Given the description of an element on the screen output the (x, y) to click on. 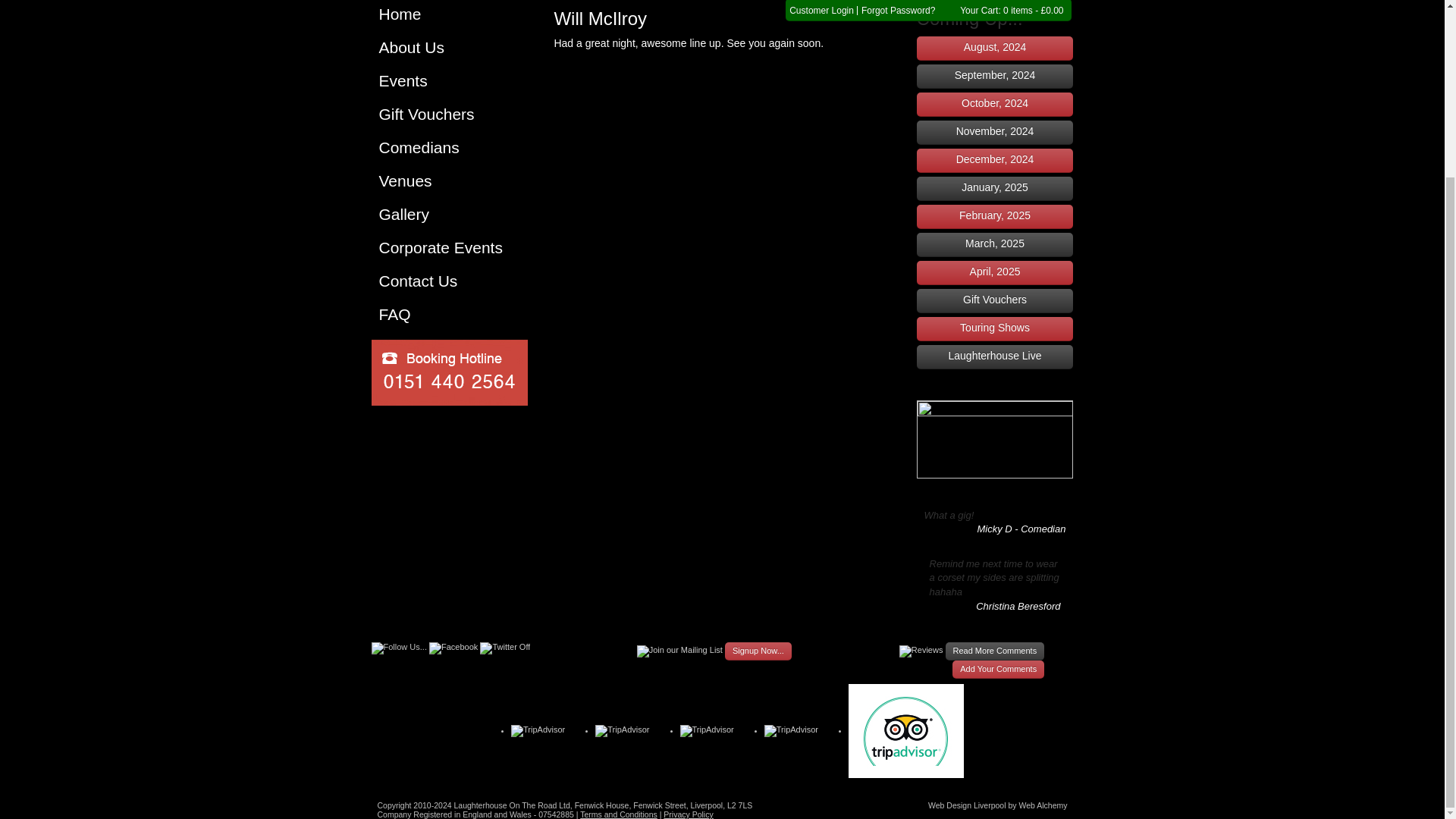
November, 2024 (995, 132)
Laughterhouse Comedy, Liverpool's Premier Comedy Club! (449, 14)
Home (449, 14)
Laughterhouse Live (995, 356)
Touring Shows (995, 328)
Gift Vouchers (995, 300)
Comedians (449, 147)
Venues (449, 181)
Corporate Events (449, 248)
Contact Us (449, 281)
